Given the description of an element on the screen output the (x, y) to click on. 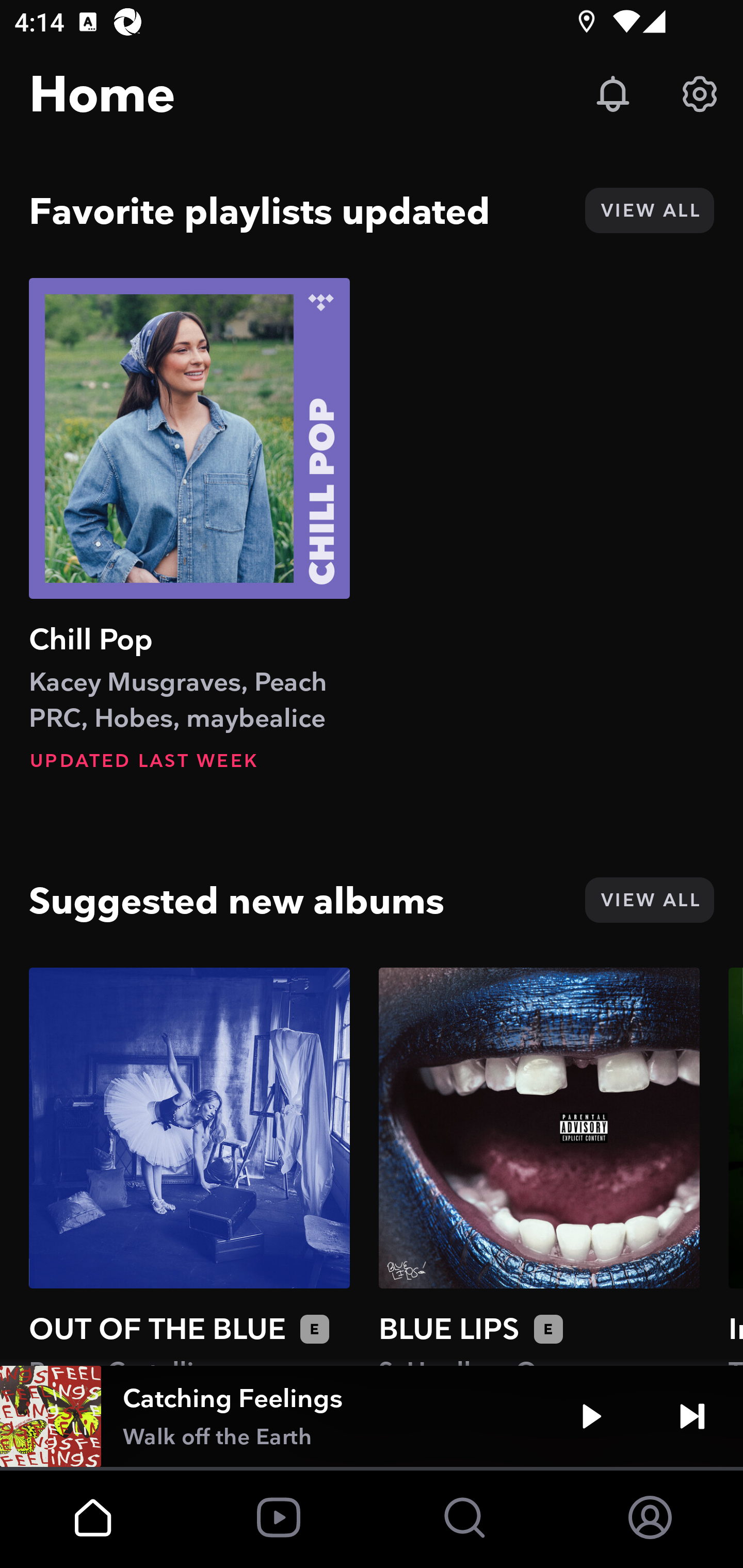
Updates (612, 93)
Settings (699, 93)
VIEW ALL (649, 210)
VIEW ALL (649, 899)
OUT OF THE BLUE Brynn Cartelli (188, 1166)
BLUE LIPS ScHoolboy Q (538, 1166)
Catching Feelings Walk off the Earth Play (371, 1416)
Play (590, 1416)
